Given the description of an element on the screen output the (x, y) to click on. 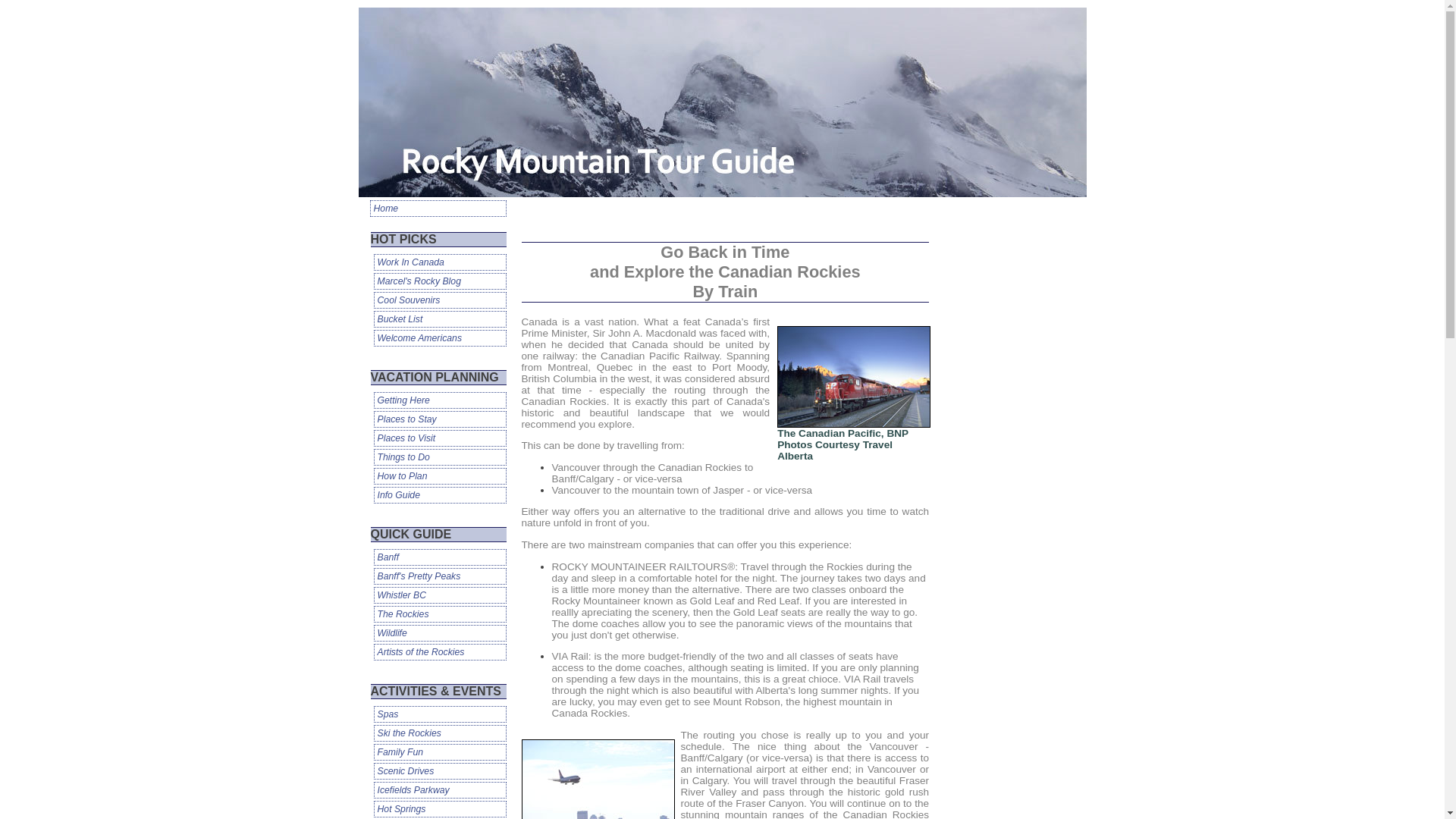
Places to Visit (438, 437)
Scenic Drives (438, 770)
Banff (438, 556)
Whistler BC (438, 595)
Places to Stay (438, 419)
Banff's Pretty Peaks (438, 576)
Family Fun (438, 751)
Things to Do (438, 457)
Artists of the Rockies (438, 651)
Bucket List (438, 319)
